Given the description of an element on the screen output the (x, y) to click on. 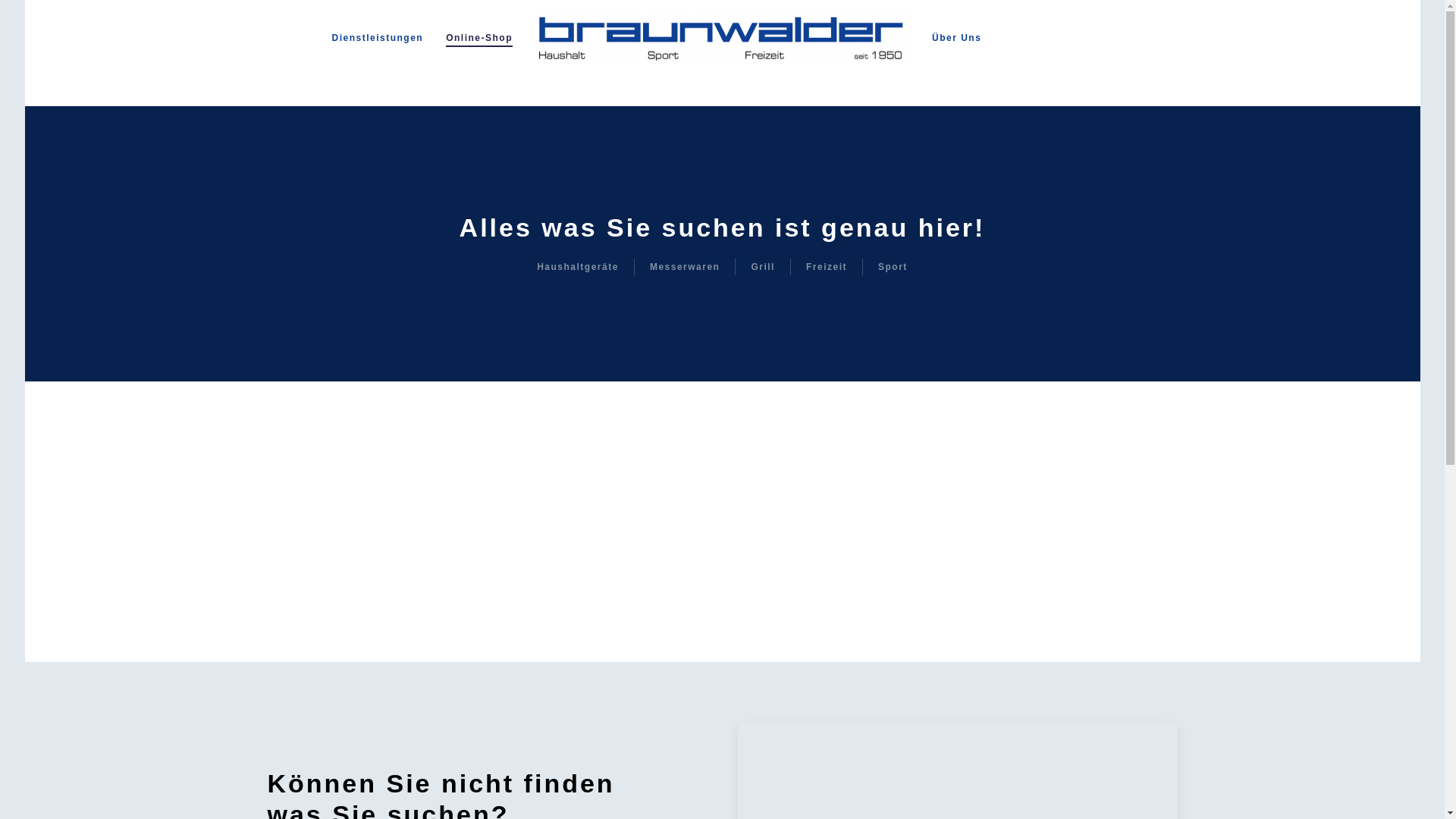
Sport Element type: text (892, 266)
Grill Element type: text (762, 266)
Freizeit Element type: text (826, 266)
Dienstleistungen Element type: text (377, 37)
Online-Shop Element type: text (479, 37)
Messerwaren Element type: text (684, 266)
